Given the description of an element on the screen output the (x, y) to click on. 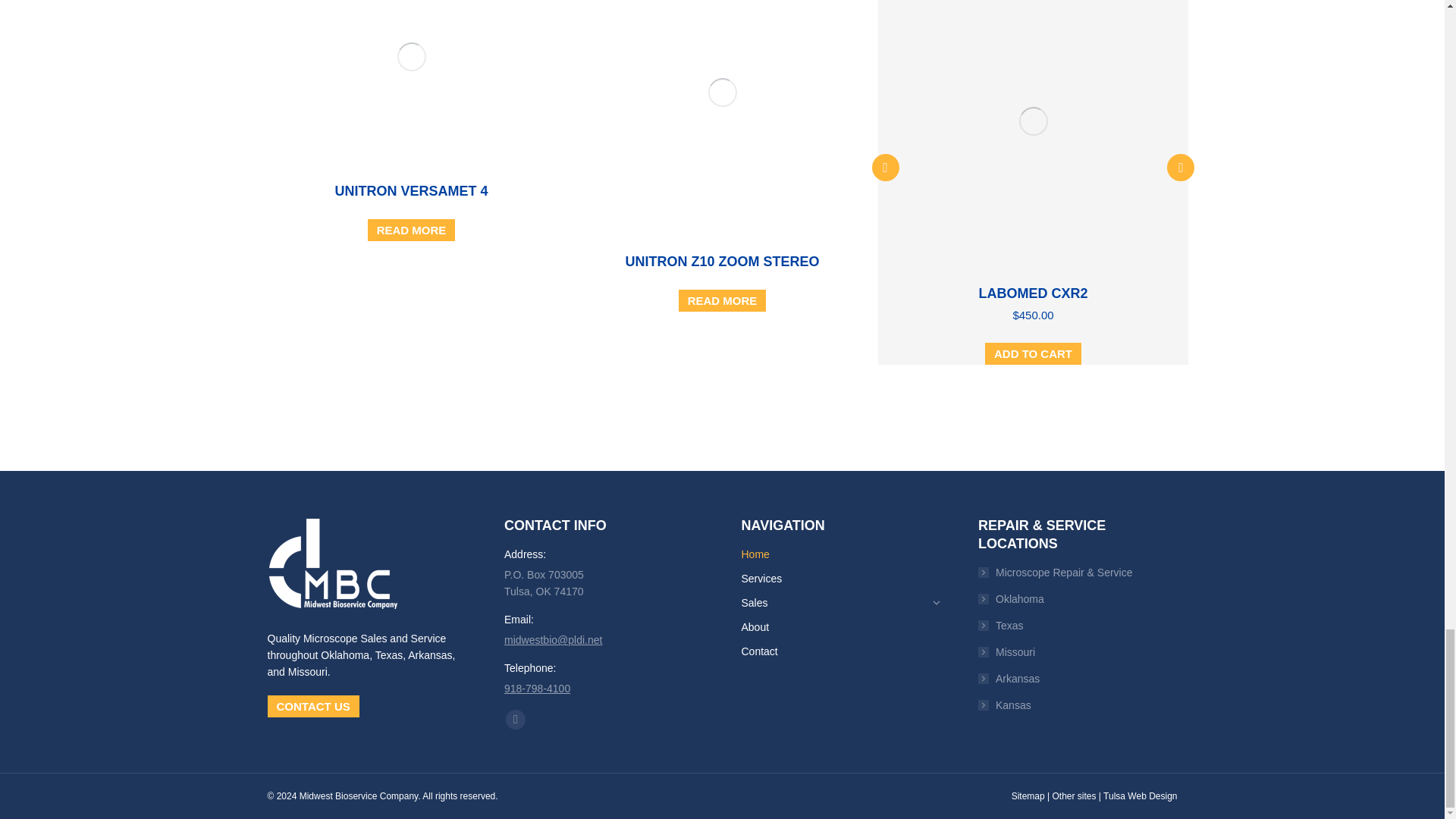
Unitron Versamet 4 (410, 191)
Unitron Z10 Zoom Stereo (721, 261)
Mail page opens in new window (515, 719)
Labomed CXR2 (1032, 293)
